Given the description of an element on the screen output the (x, y) to click on. 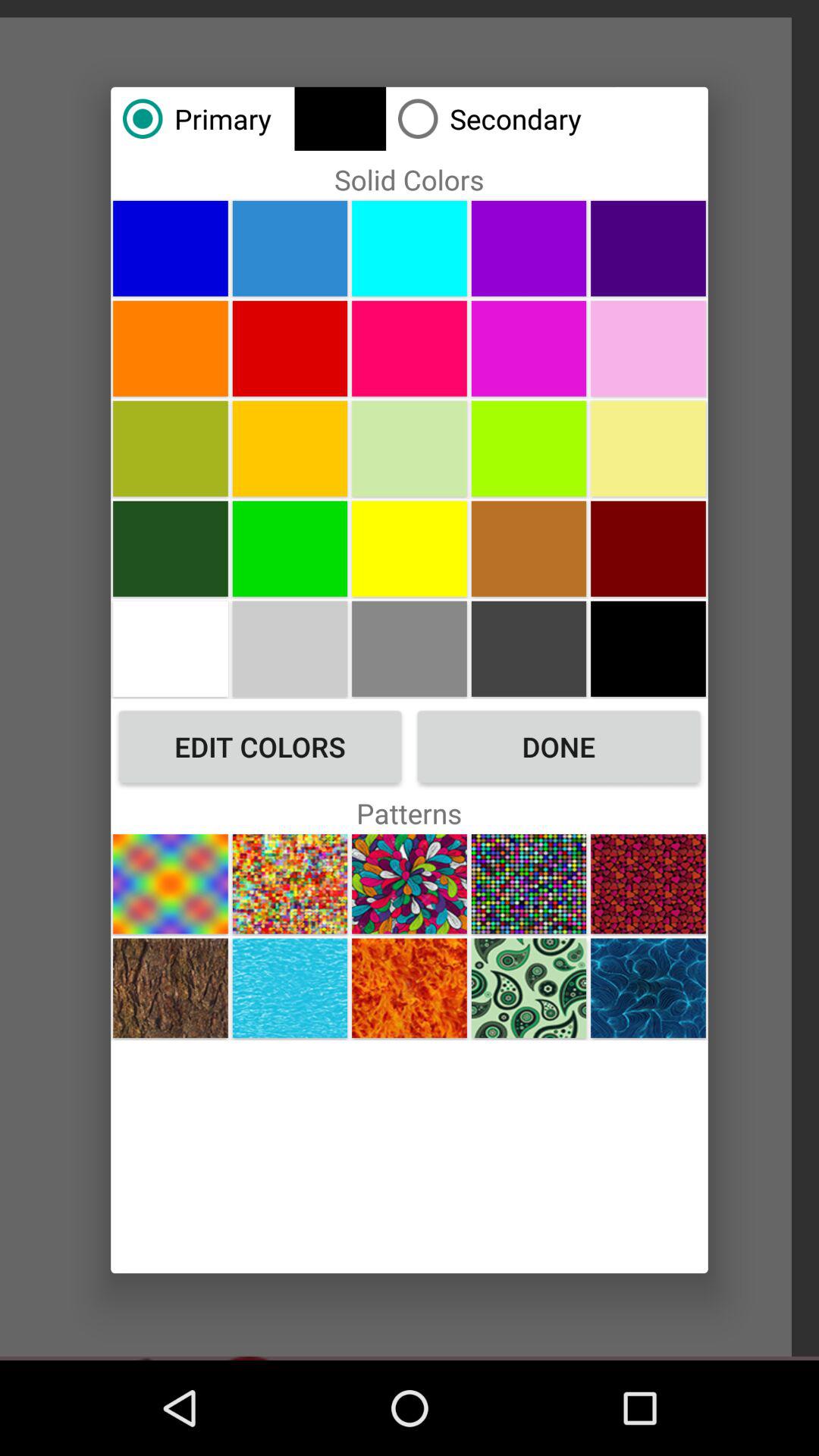
select colour (289, 448)
